Given the description of an element on the screen output the (x, y) to click on. 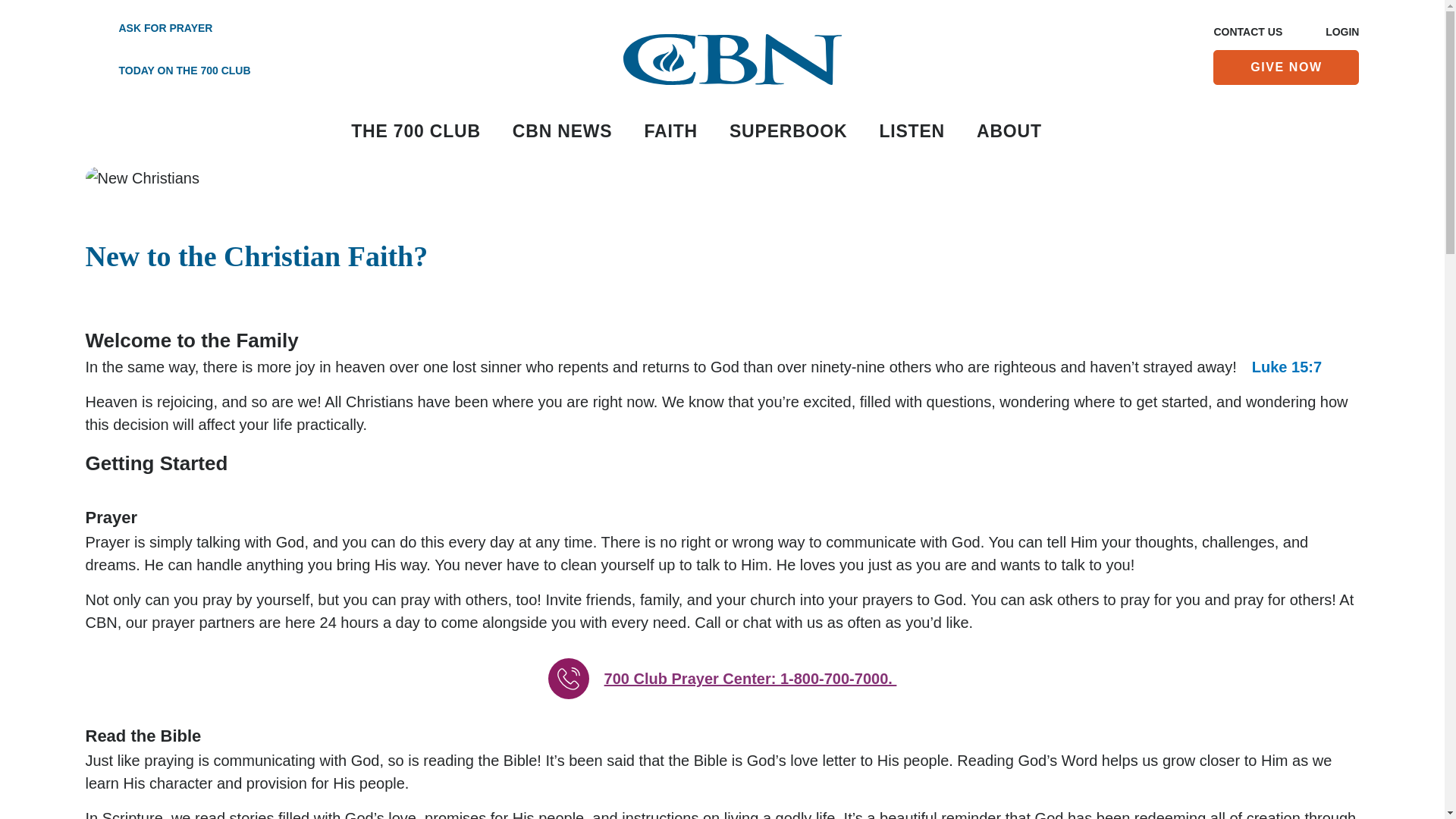
THE 700 CLUB (415, 131)
TODAY ON THE 700 CLUB (167, 71)
CONTACT US (1247, 32)
LOGIN (1341, 32)
ASK FOR PRAYER (167, 28)
GIVE NOW (1285, 67)
CBN NEWS (562, 131)
